Given the description of an element on the screen output the (x, y) to click on. 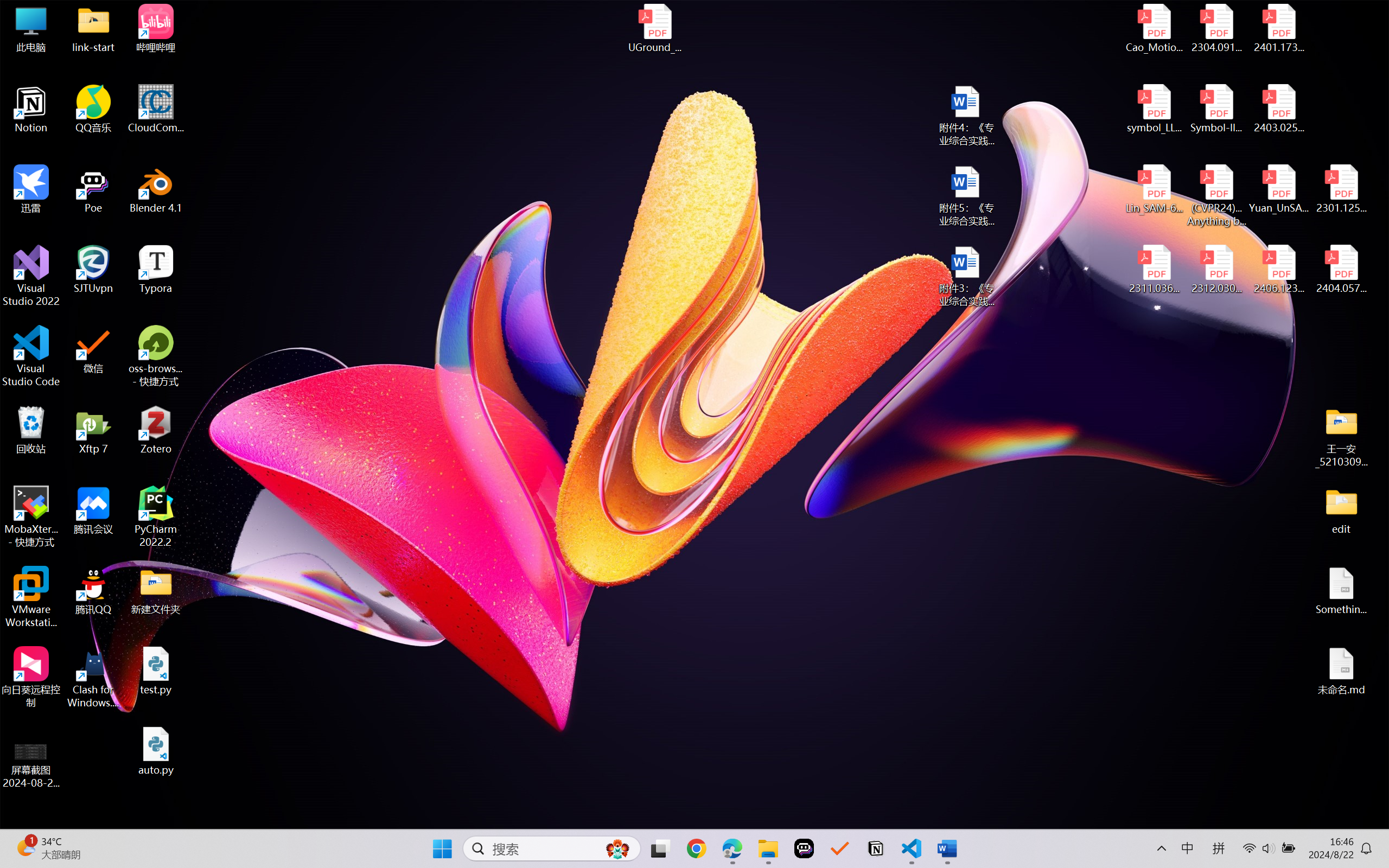
Xftp 7 (93, 430)
UGround_paper.pdf (654, 28)
2404.05719v1.pdf (1340, 269)
Something.md (1340, 591)
Symbol-llm-v2.pdf (1216, 109)
Visual Studio 2022 (31, 276)
CloudCompare (156, 109)
